Given the description of an element on the screen output the (x, y) to click on. 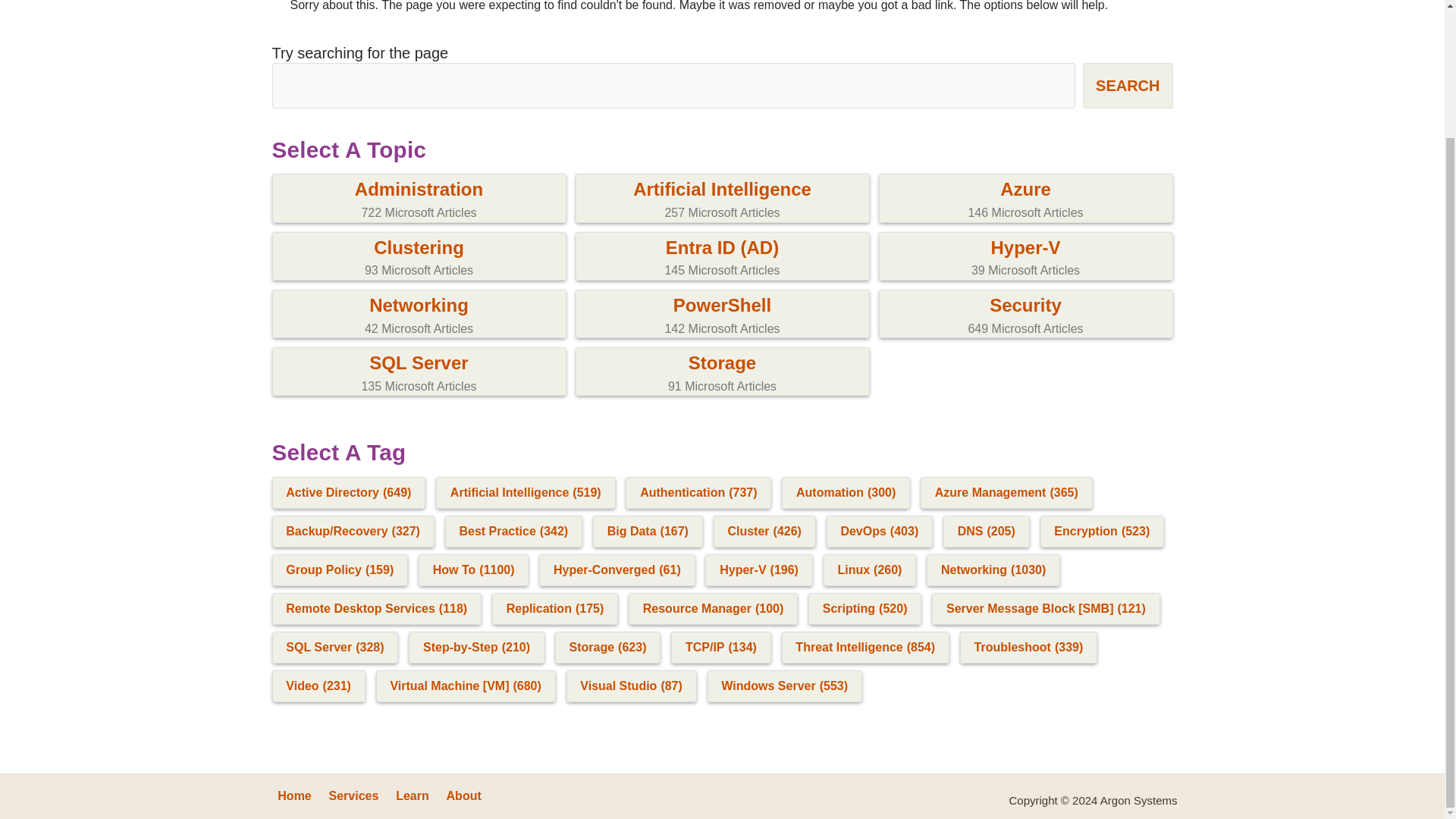
SEARCH (1025, 257)
